Given the description of an element on the screen output the (x, y) to click on. 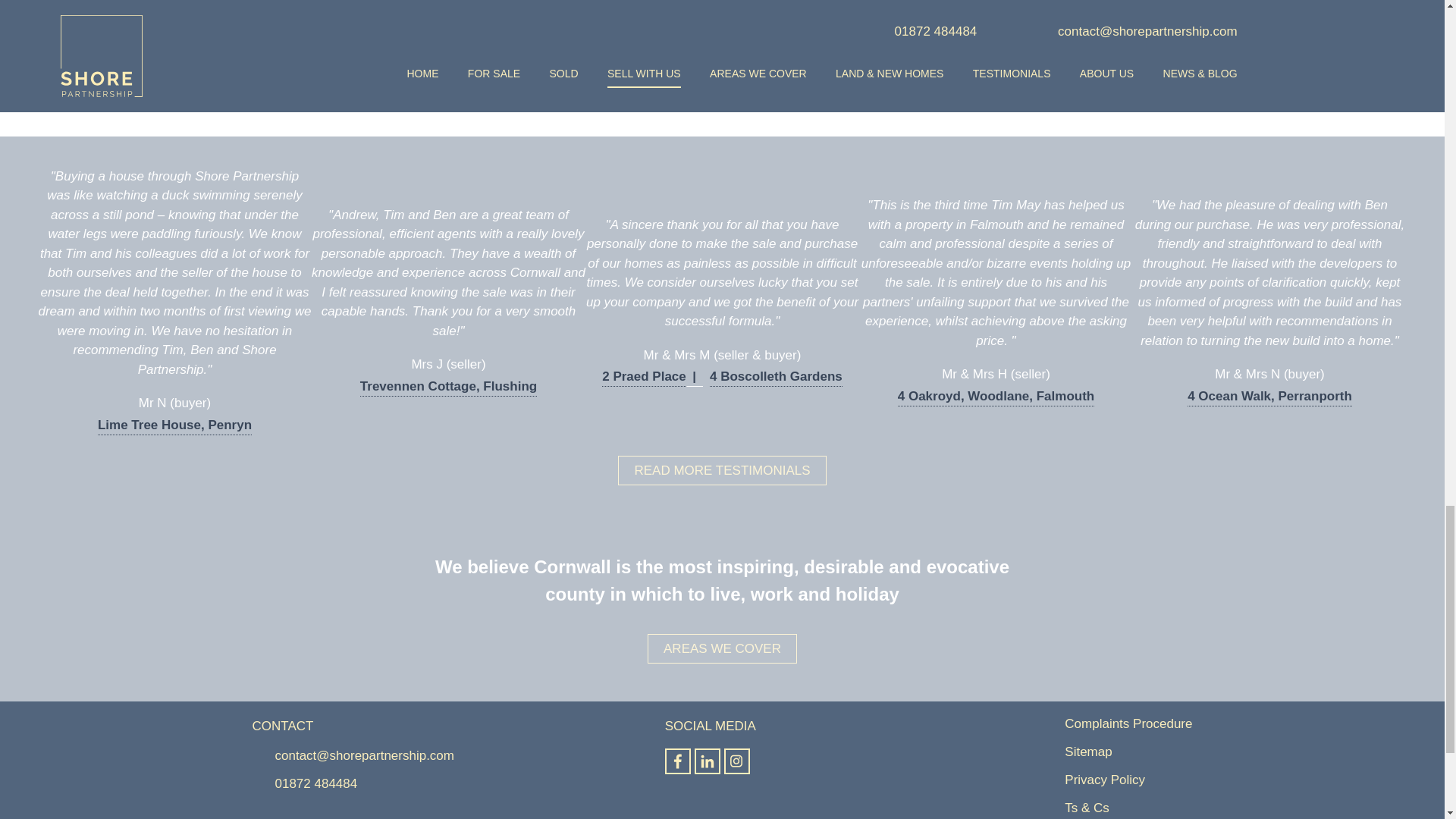
Lime Tree House, Penryn (174, 425)
4 Boscolleth Gardens (776, 376)
ENGAGE WITH US HERE (721, 72)
2 Praed Place (651, 376)
Trevennen Cottage, Flushing (448, 386)
4 Oakroyd, Woodlane, Falmouth (996, 396)
4 Ocean Walk, Perranporth (1270, 396)
